Given the description of an element on the screen output the (x, y) to click on. 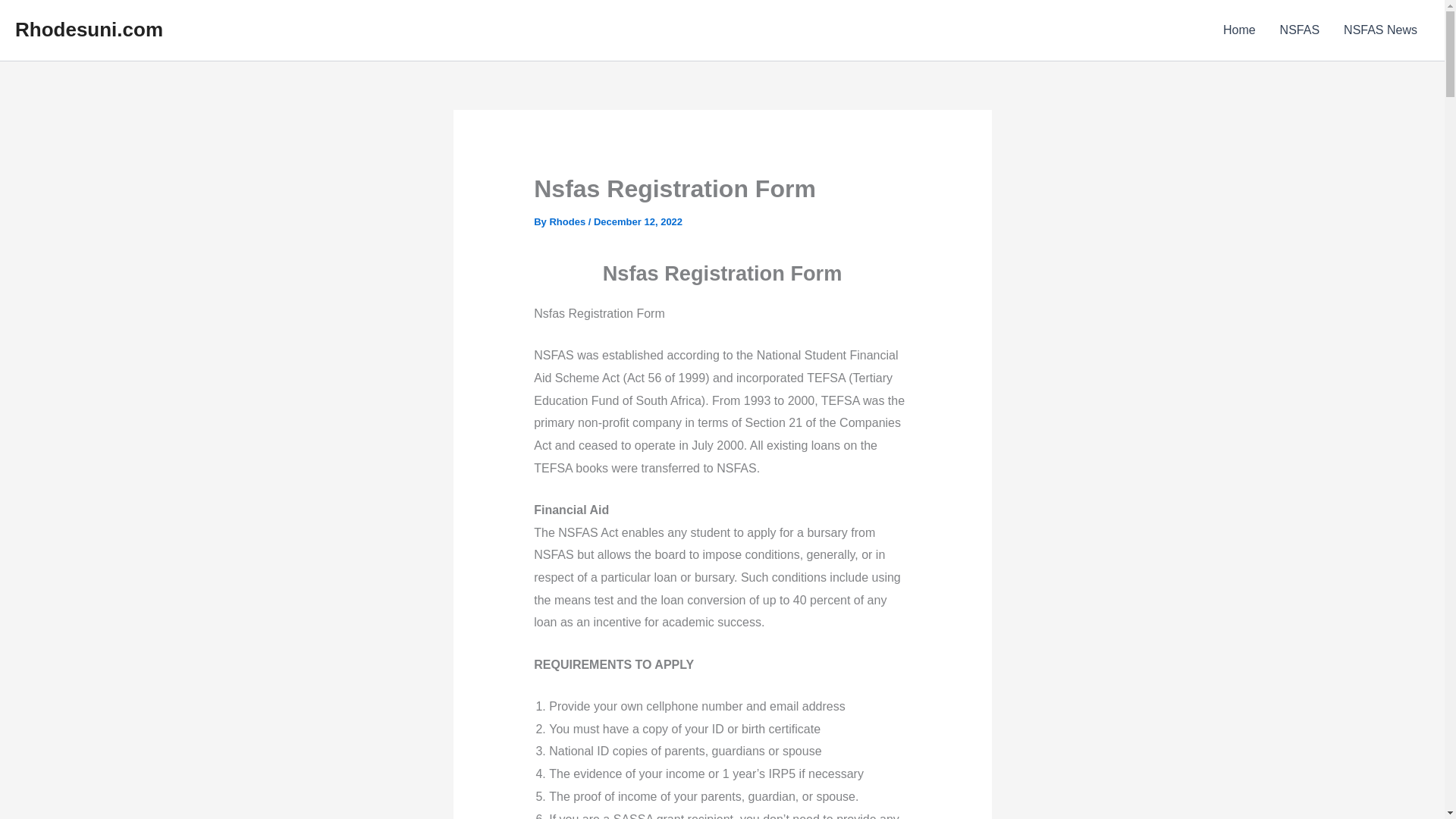
View all posts by Rhodes (568, 221)
NSFAS (1300, 30)
Home (1239, 30)
NSFAS News (1380, 30)
Rhodesuni.com (88, 29)
